Given the description of an element on the screen output the (x, y) to click on. 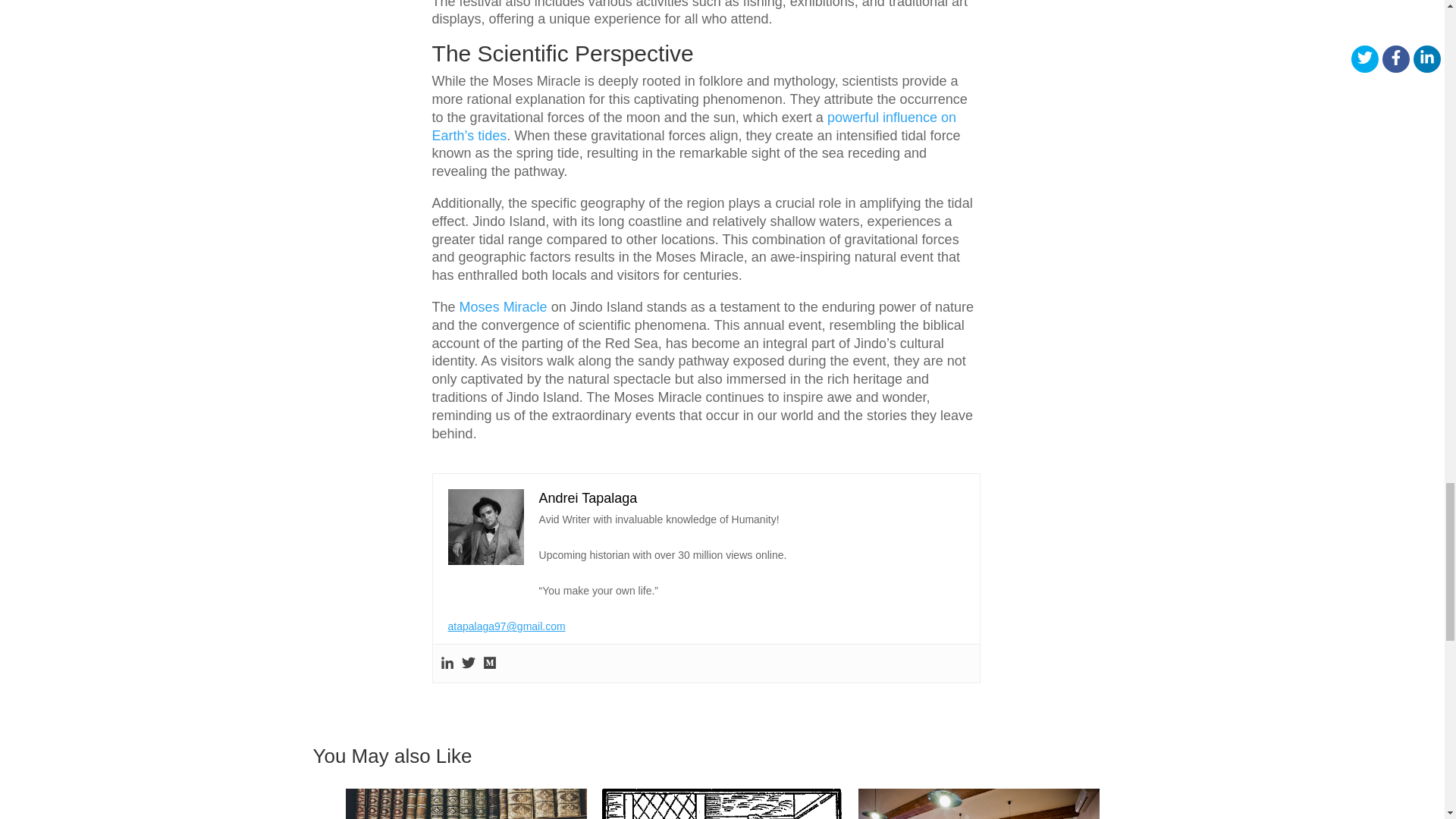
Moses Miracle (503, 306)
Andrei Tapalaga (587, 498)
Moses Miracle (503, 306)
powerful influence on Earth's tides (694, 126)
